Given the description of an element on the screen output the (x, y) to click on. 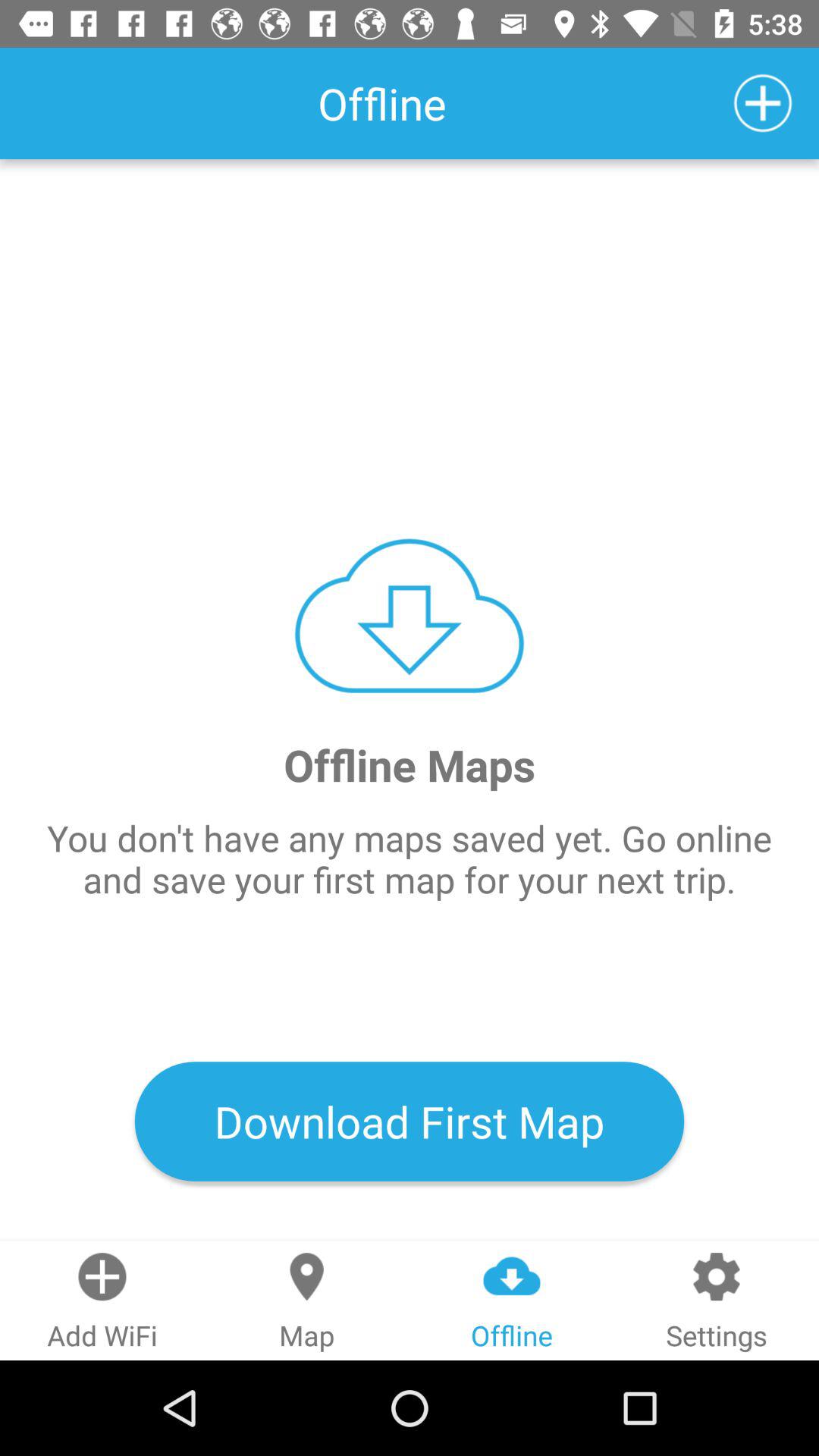
go to new tap (762, 103)
